Given the description of an element on the screen output the (x, y) to click on. 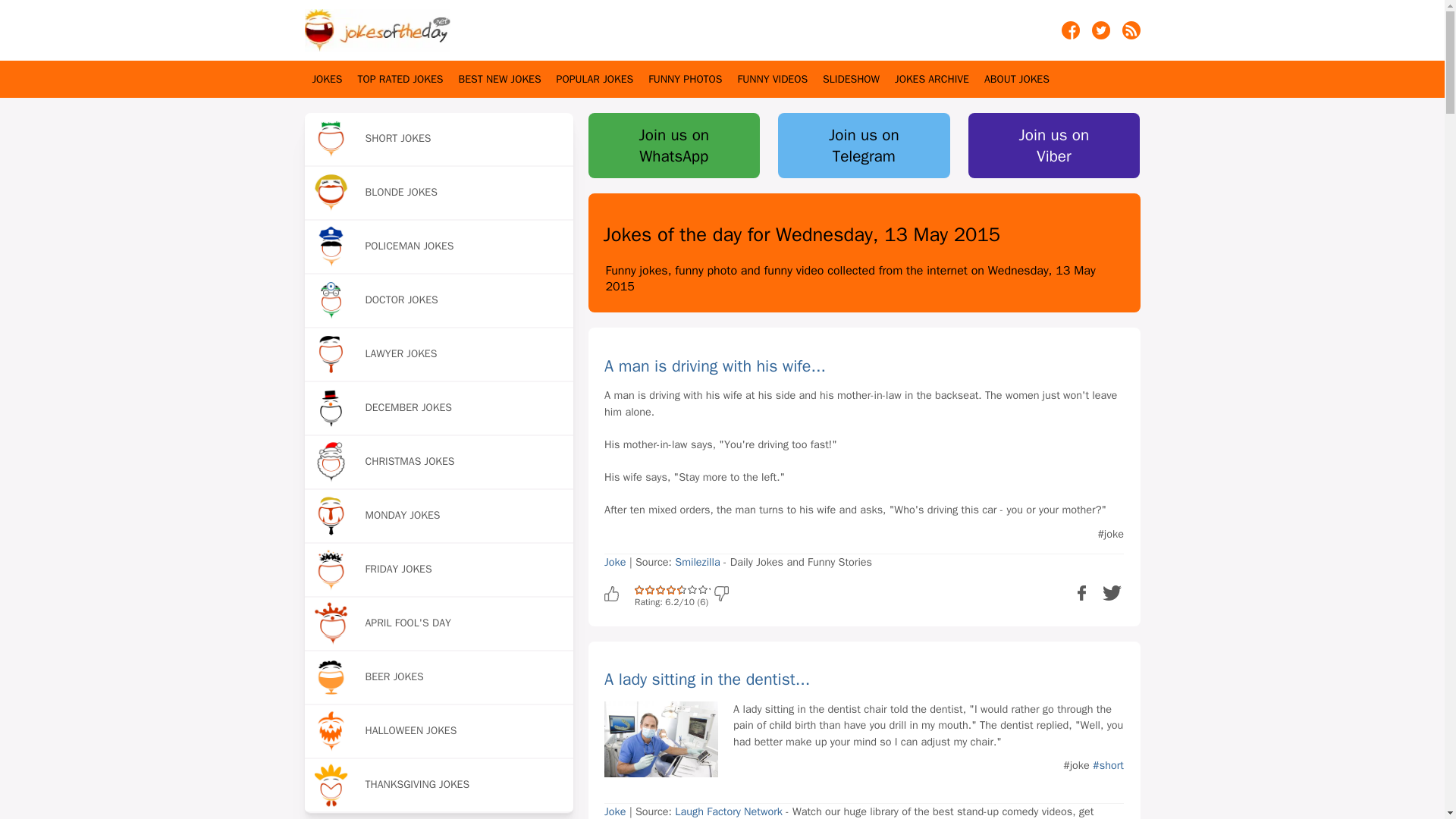
Smilezilla (697, 561)
Jokes (327, 78)
Jokes Archive (932, 78)
About Jokes (1016, 78)
Laugh Factory Network (729, 811)
JOKES ARCHIVE (932, 78)
Slideshow (850, 78)
TOP RATED JOKES (401, 78)
FUNNY VIDEOS (772, 78)
Funny Photos (684, 78)
The Best Jokes - top rated jokes (401, 78)
Jokes of the day on RSS feed (1131, 35)
FUNNY PHOTOS (684, 78)
The best jokes in the last 4 weeks (499, 78)
